Given the description of an element on the screen output the (x, y) to click on. 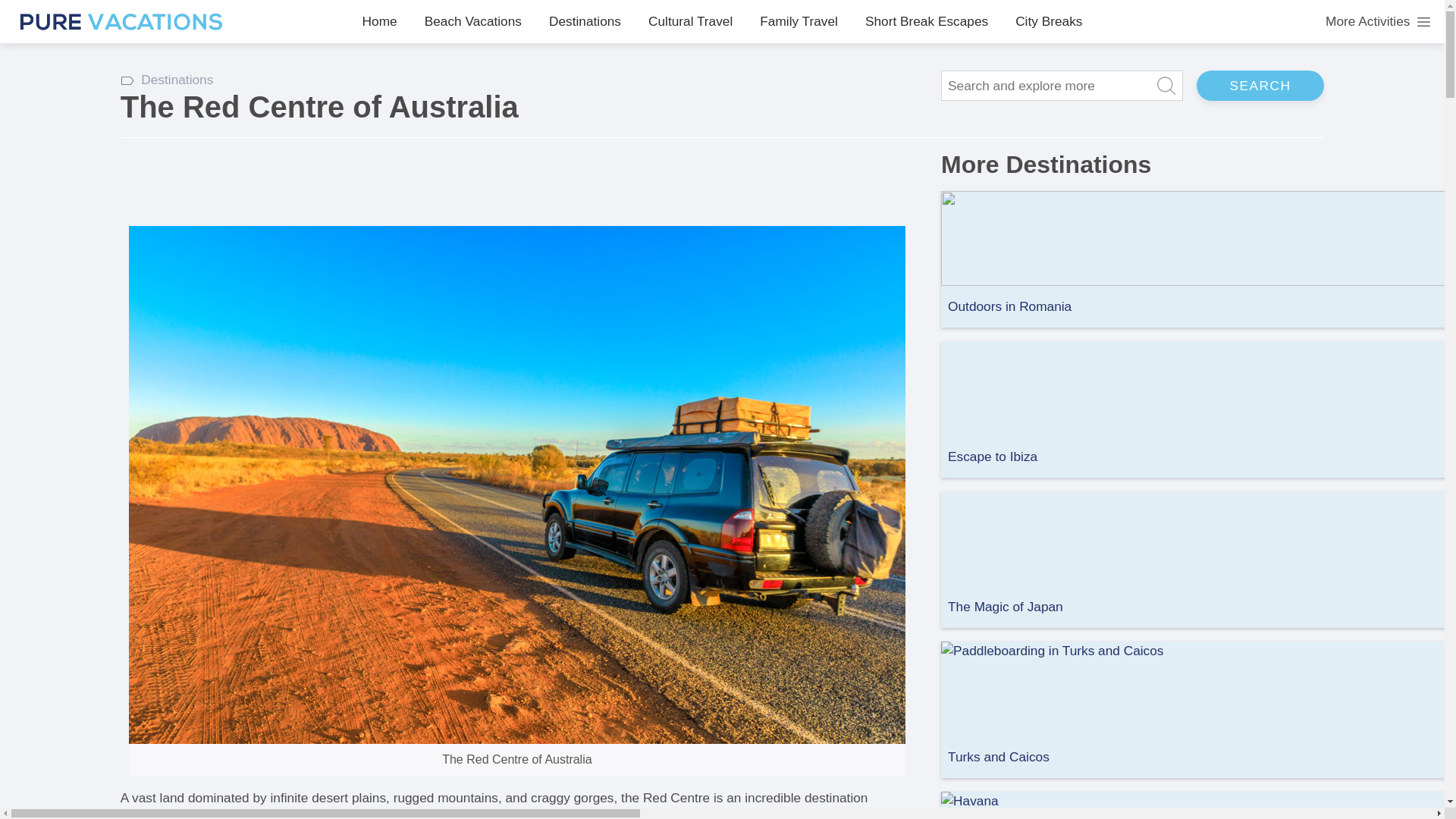
Escape to Ibiza (991, 456)
Outdoors in Romania (1009, 305)
City Breaks (1047, 20)
Home (379, 20)
Destinations (584, 20)
Beach Vacations (473, 20)
Family Travel (799, 20)
Search (1259, 85)
Search (1259, 85)
Cultural Travel (689, 20)
More Activities (1377, 21)
Search (1259, 85)
Short Break Escapes (926, 20)
Pure Vacations -  Travel Articles with Luxury and Adventure (120, 21)
